Given the description of an element on the screen output the (x, y) to click on. 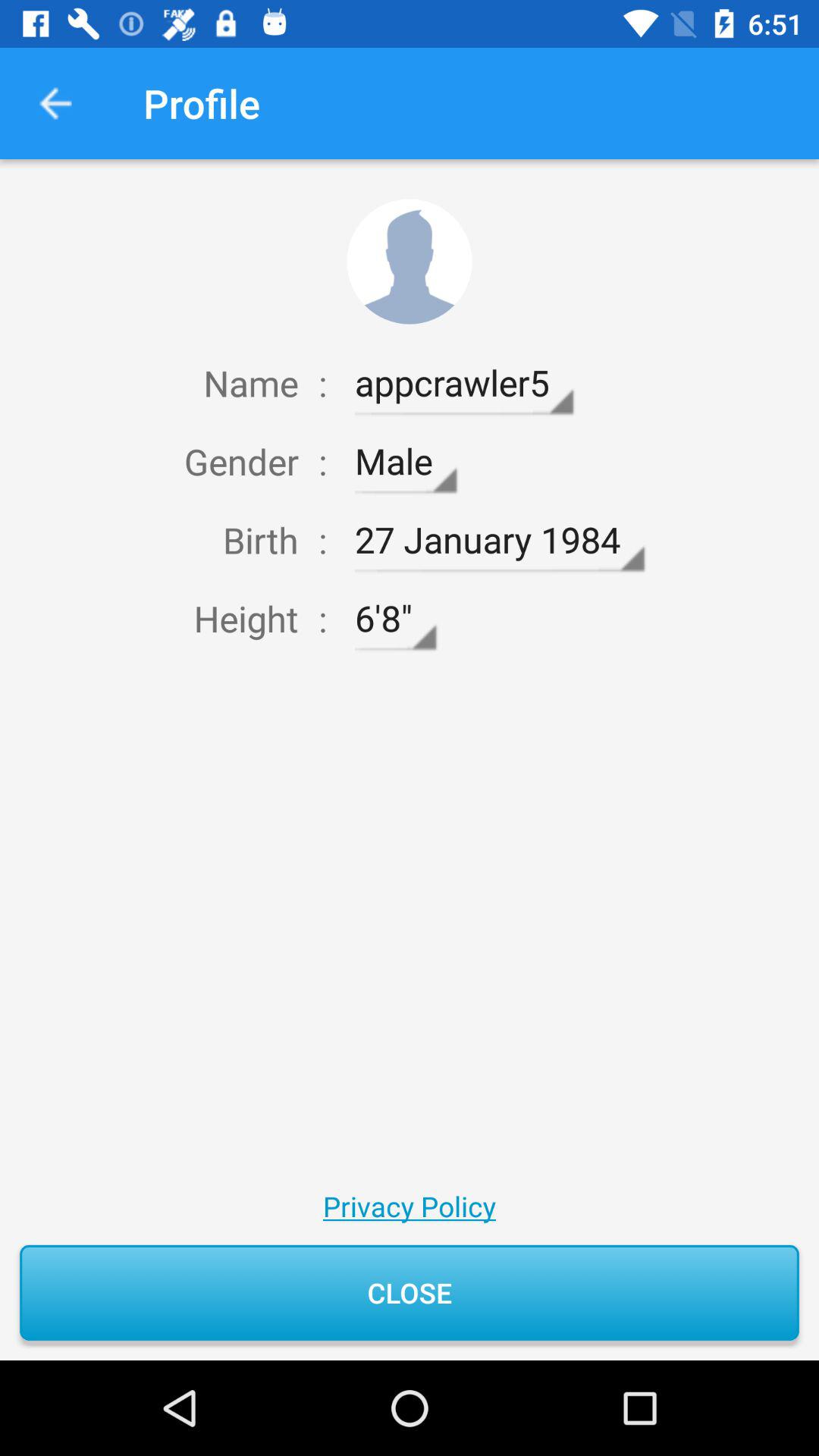
launch the item above name icon (55, 103)
